Given the description of an element on the screen output the (x, y) to click on. 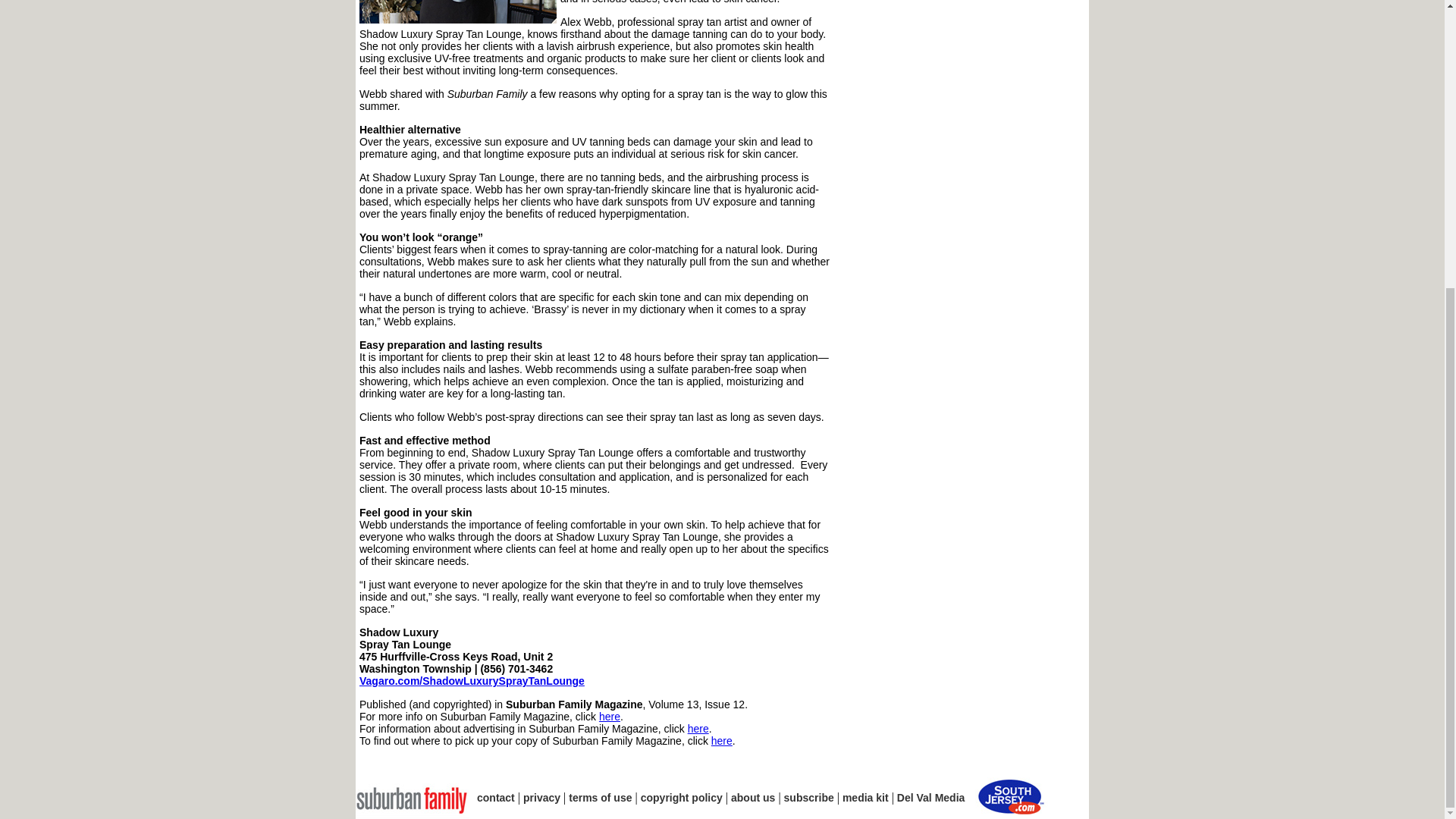
here (698, 728)
contact (496, 797)
here (609, 716)
privacy (541, 797)
here (721, 740)
